Given the description of an element on the screen output the (x, y) to click on. 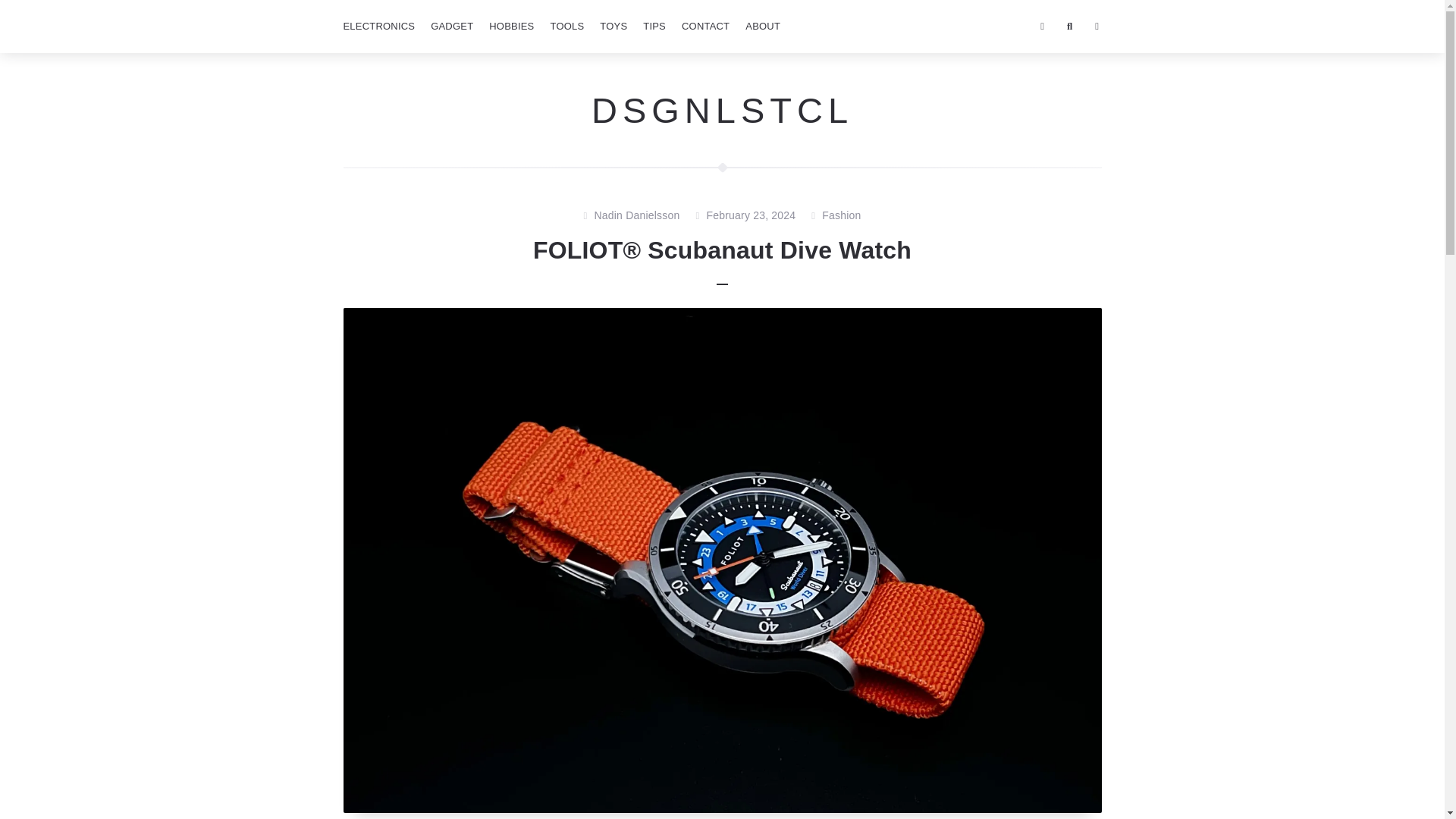
CONTACT (705, 26)
TOOLS (566, 26)
Nadin Danielsson (636, 216)
Fashion (841, 216)
ABOUT (762, 26)
DSGNLSTCL (722, 110)
February 23, 2024 (750, 216)
GADGET (451, 26)
ELECTRONICS (378, 26)
HOBBIES (511, 26)
